Given the description of an element on the screen output the (x, y) to click on. 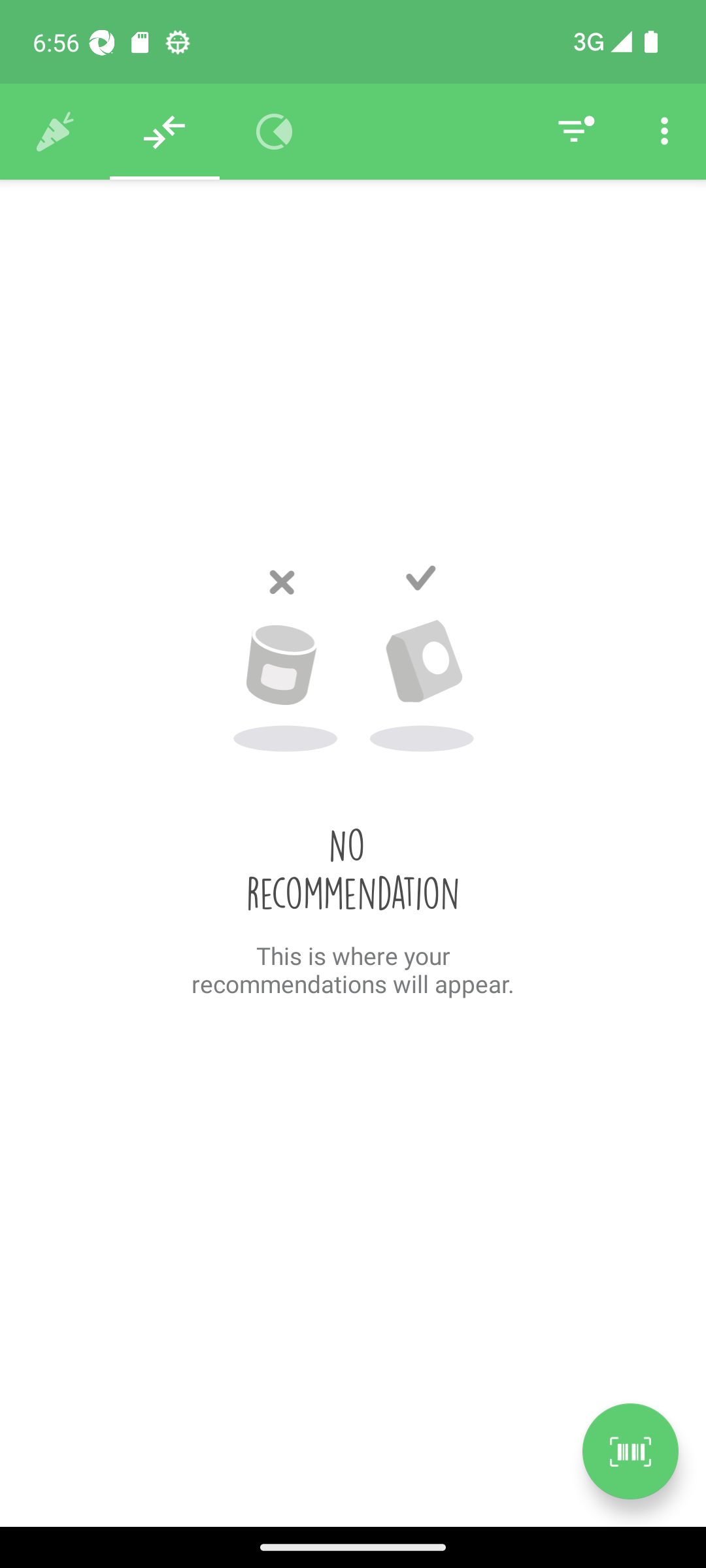
History (55, 131)
Overview (274, 131)
Filter (573, 131)
Settings (664, 131)
Scan a product (630, 1451)
